Given the description of an element on the screen output the (x, y) to click on. 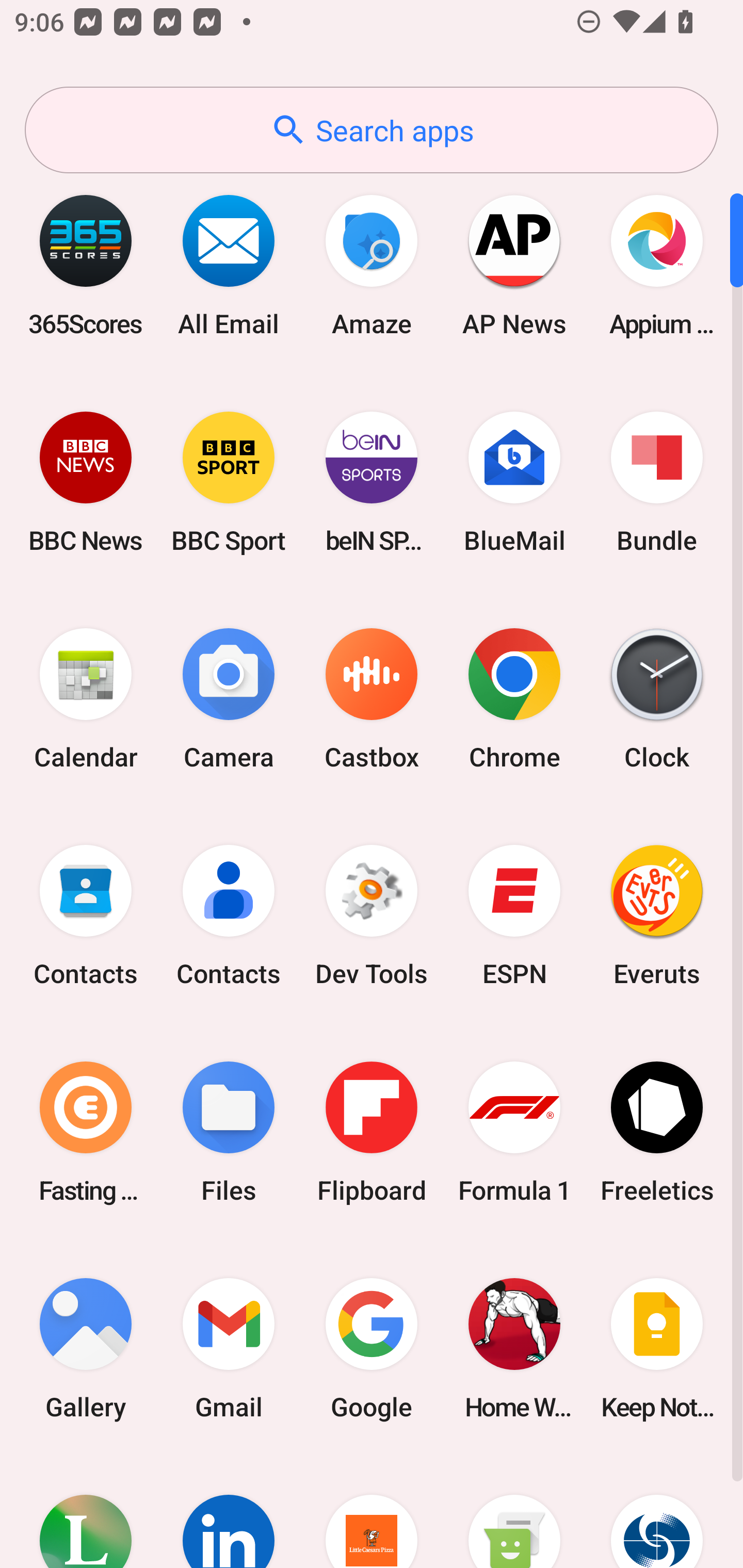
  Search apps (371, 130)
365Scores (85, 264)
All Email (228, 264)
Amaze (371, 264)
AP News (514, 264)
Appium Settings (656, 264)
BBC News (85, 482)
BBC Sport (228, 482)
beIN SPORTS (371, 482)
BlueMail (514, 482)
Bundle (656, 482)
Calendar (85, 699)
Camera (228, 699)
Castbox (371, 699)
Chrome (514, 699)
Clock (656, 699)
Contacts (85, 915)
Contacts (228, 915)
Dev Tools (371, 915)
ESPN (514, 915)
Everuts (656, 915)
Fasting Coach (85, 1131)
Files (228, 1131)
Flipboard (371, 1131)
Formula 1 (514, 1131)
Freeletics (656, 1131)
Gallery (85, 1348)
Gmail (228, 1348)
Google (371, 1348)
Home Workout (514, 1348)
Keep Notes (656, 1348)
